Given the description of an element on the screen output the (x, y) to click on. 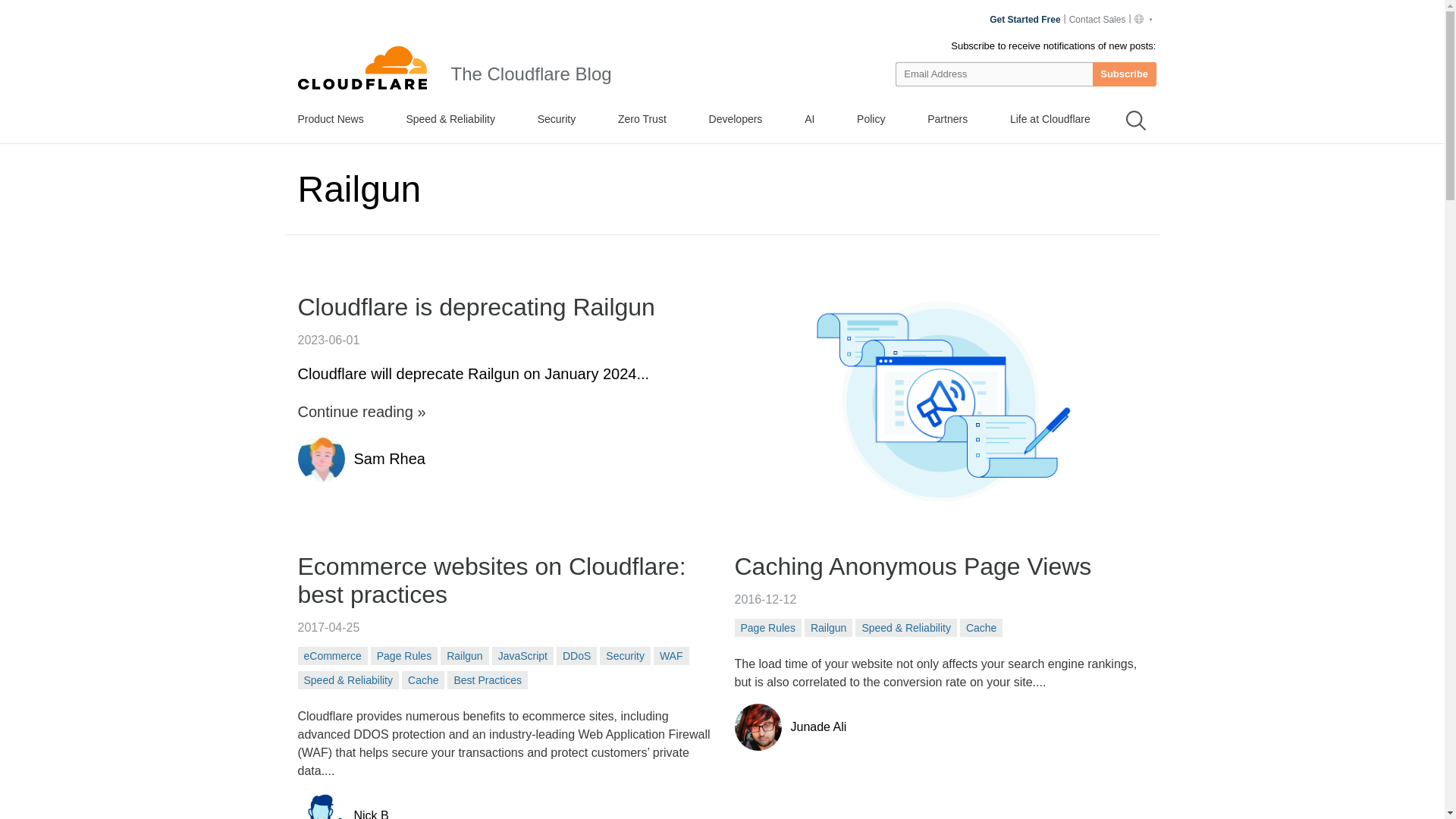
Developers (735, 118)
Ecommerce websites on Cloudflare: best practices (503, 580)
Cloudflare is deprecating Railgun (509, 307)
Life at Cloudflare (1050, 118)
DDoS (576, 656)
Product News (329, 118)
Zero Trust (641, 118)
Contact Sales (1098, 19)
Security (556, 118)
Subscribe (1124, 74)
